Given the description of an element on the screen output the (x, y) to click on. 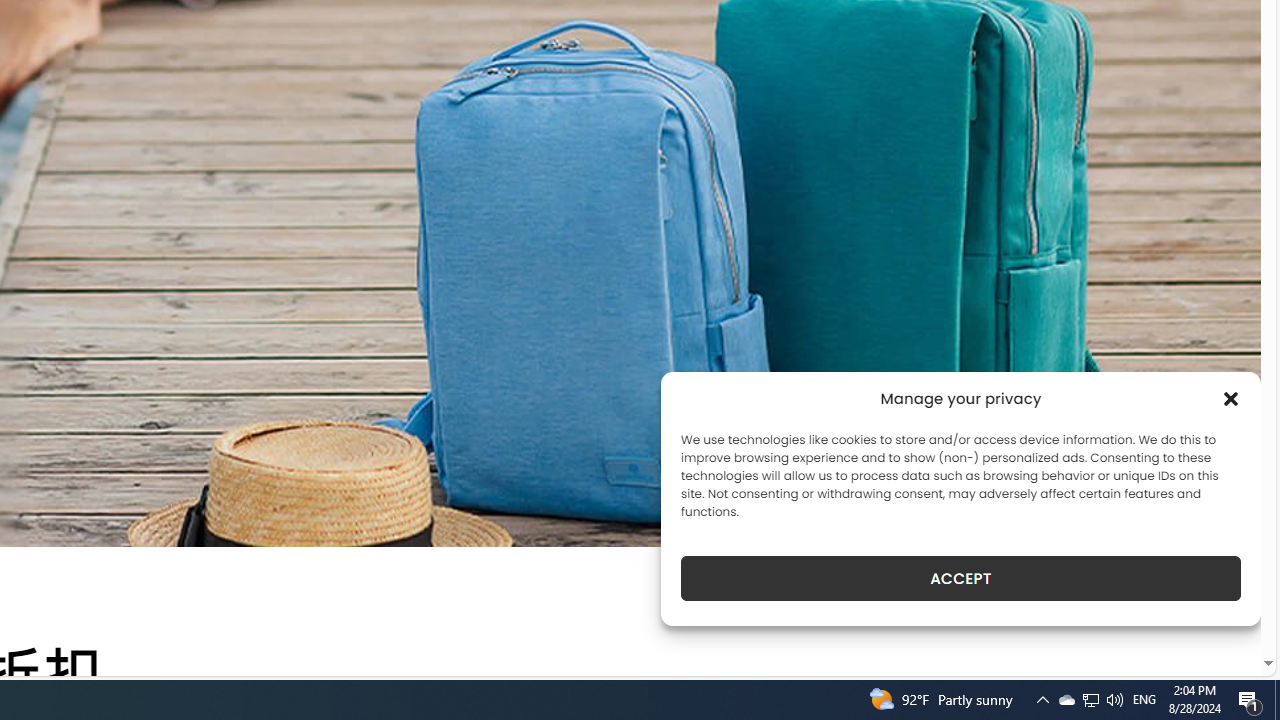
Class: cmplz-close (1231, 398)
ACCEPT (960, 578)
